Given the description of an element on the screen output the (x, y) to click on. 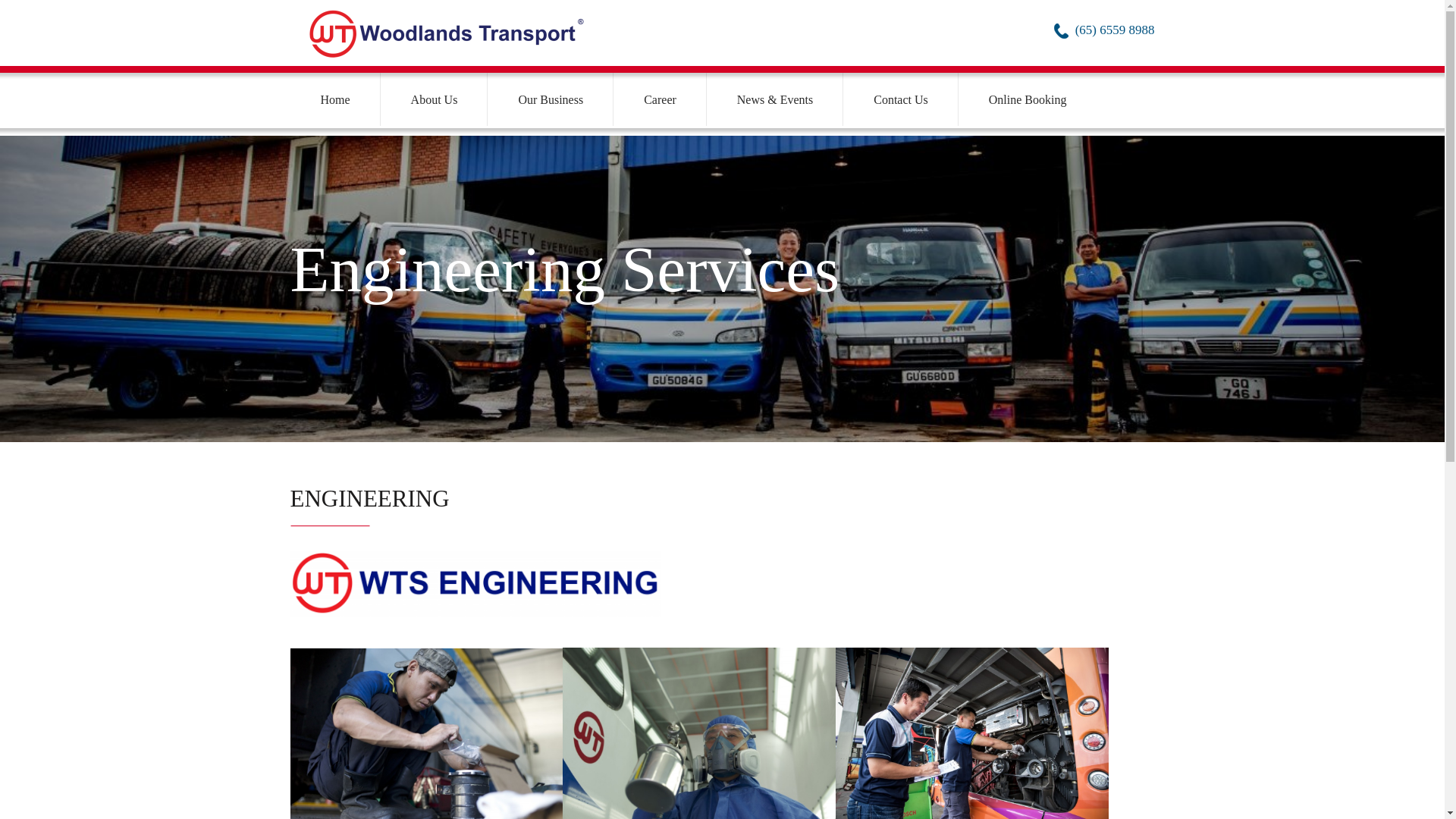
Home (334, 99)
Career (659, 99)
About Us (433, 99)
Contact Us (900, 99)
Our Business (549, 99)
